Given the description of an element on the screen output the (x, y) to click on. 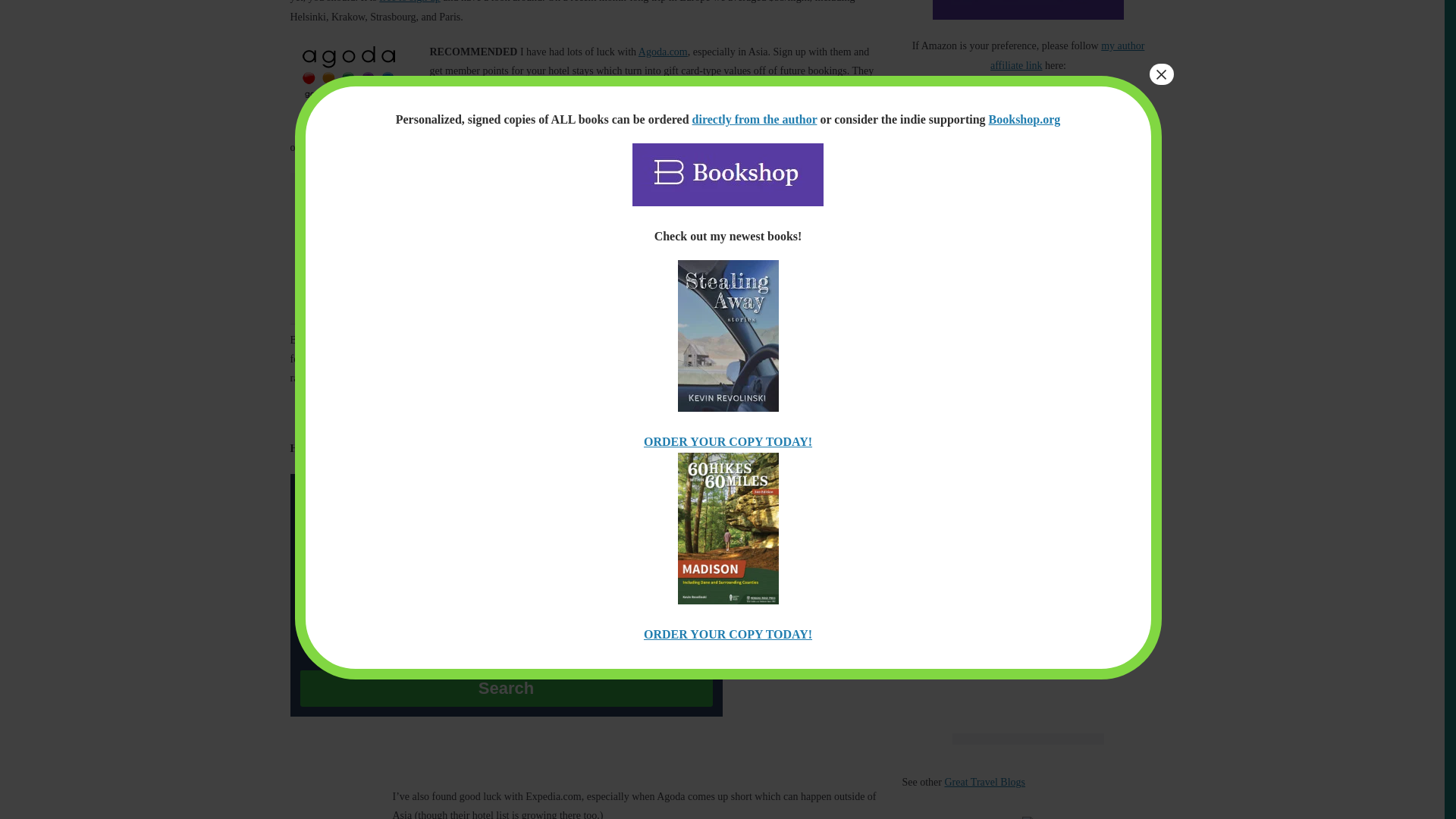
free to sign up (408, 1)
